Given the description of an element on the screen output the (x, y) to click on. 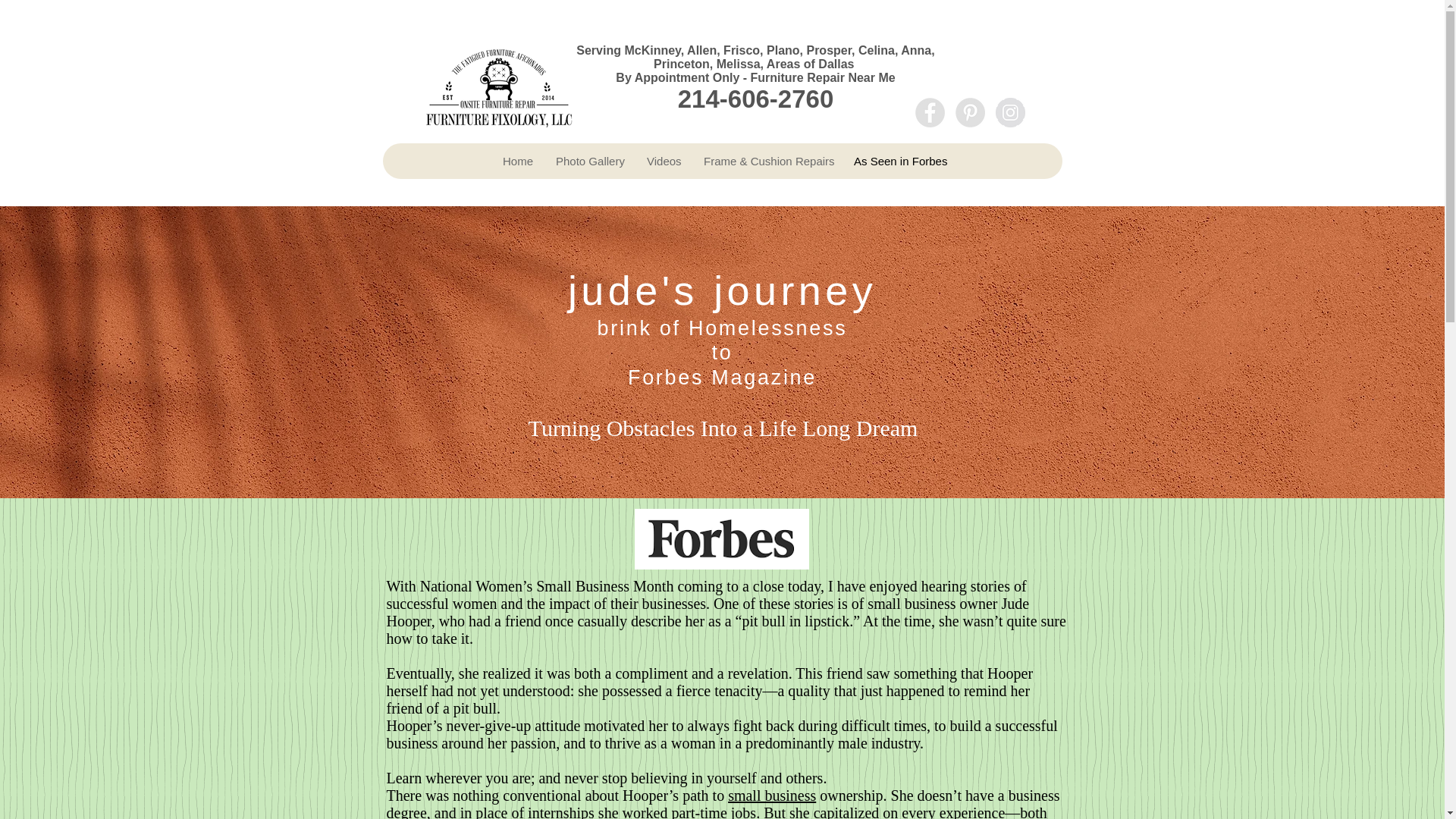
Videos (662, 161)
As Seen in Forbes (897, 161)
small business (771, 795)
Photo Gallery (588, 161)
jude's journey (721, 289)
Home (516, 161)
